Given the description of an element on the screen output the (x, y) to click on. 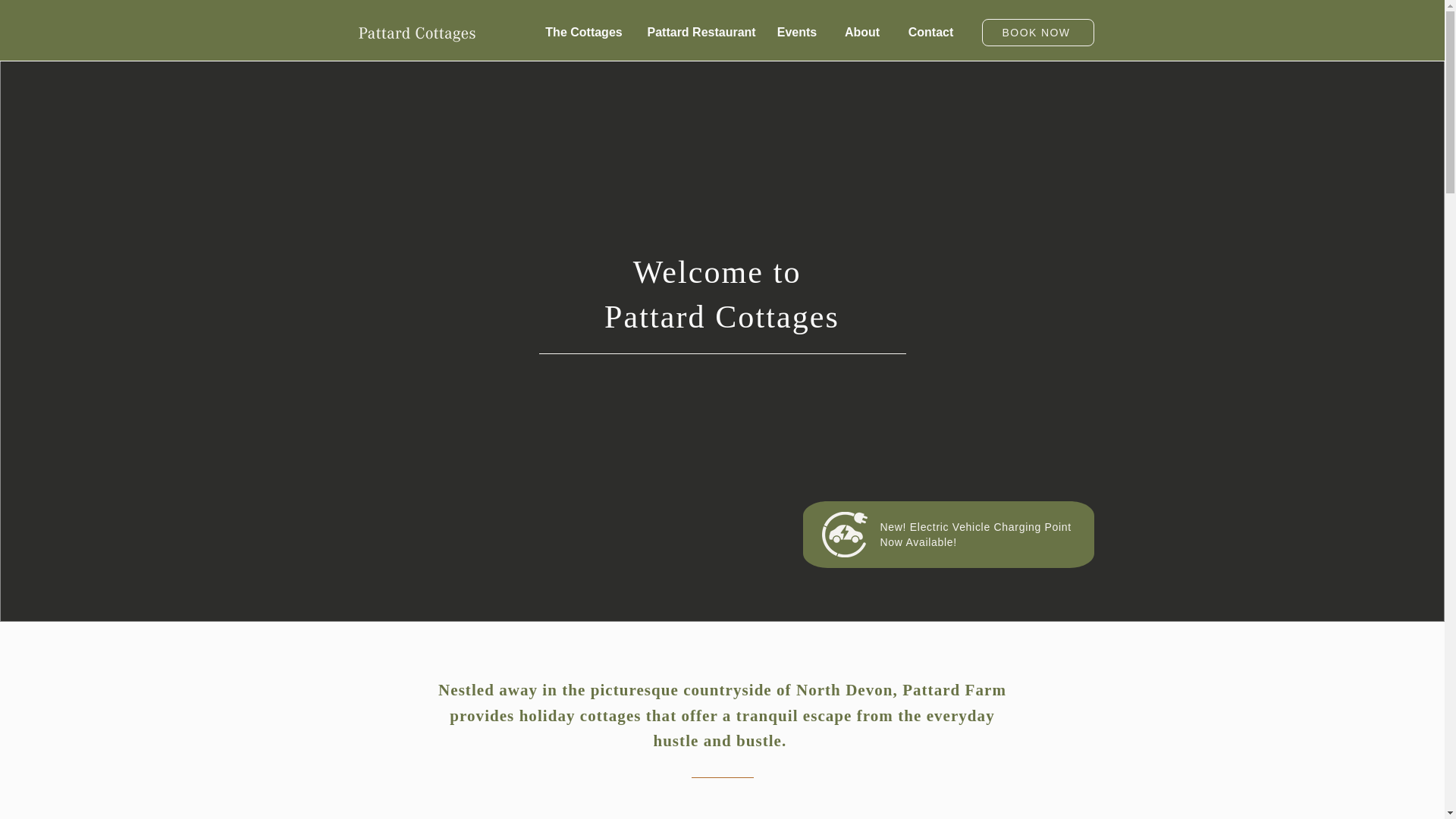
BOOK NOW (1037, 31)
The Cottages (584, 32)
Events (796, 32)
Pattard Restaurant (698, 32)
Contact (931, 32)
About (861, 32)
